Given the description of an element on the screen output the (x, y) to click on. 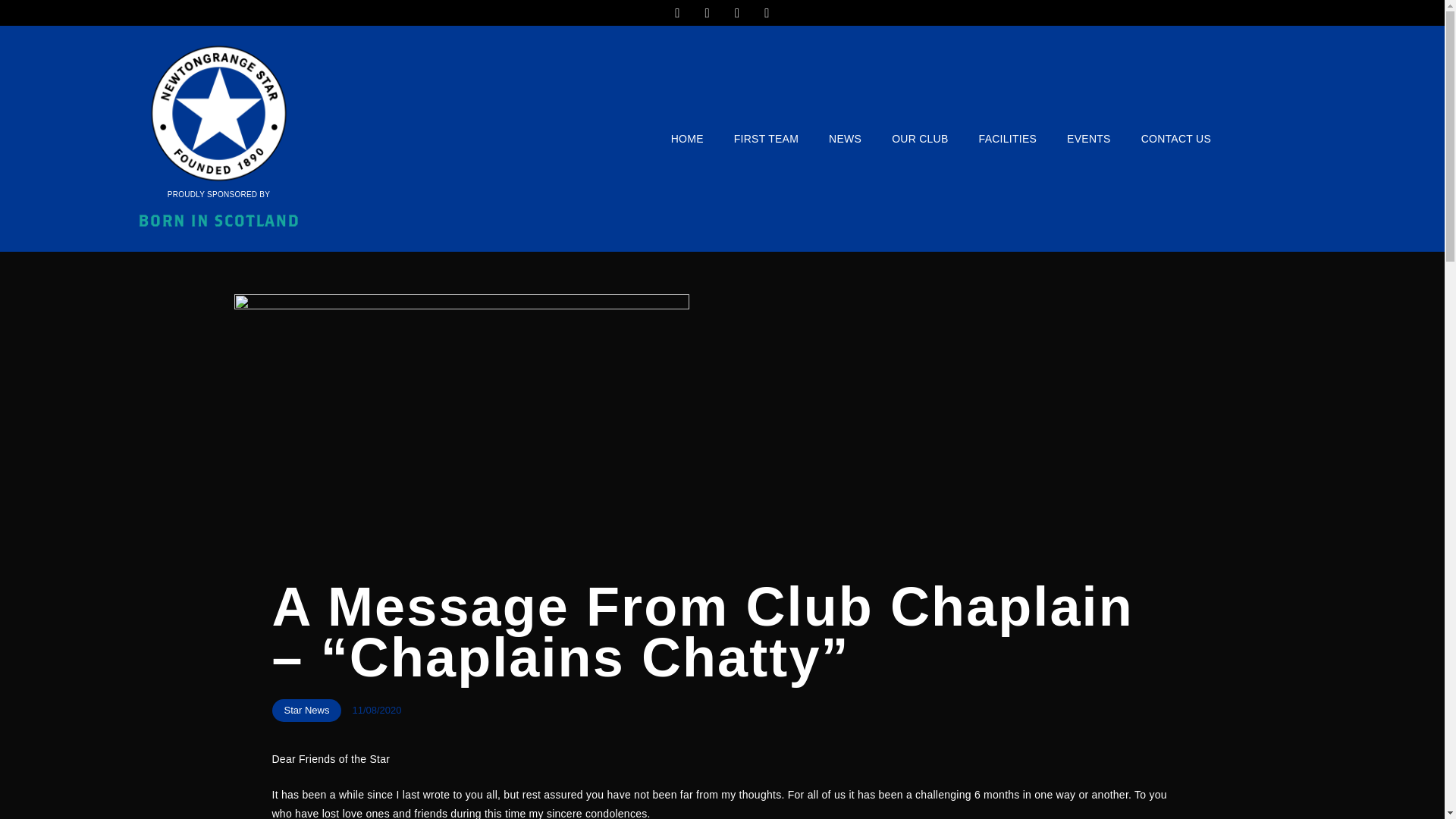
NEWS (844, 138)
OUR CLUB (919, 138)
HOME (687, 138)
EVENTS (1088, 138)
FIRST TEAM (766, 138)
FACILITIES (1007, 138)
CONTACT US (1175, 138)
